Given the description of an element on the screen output the (x, y) to click on. 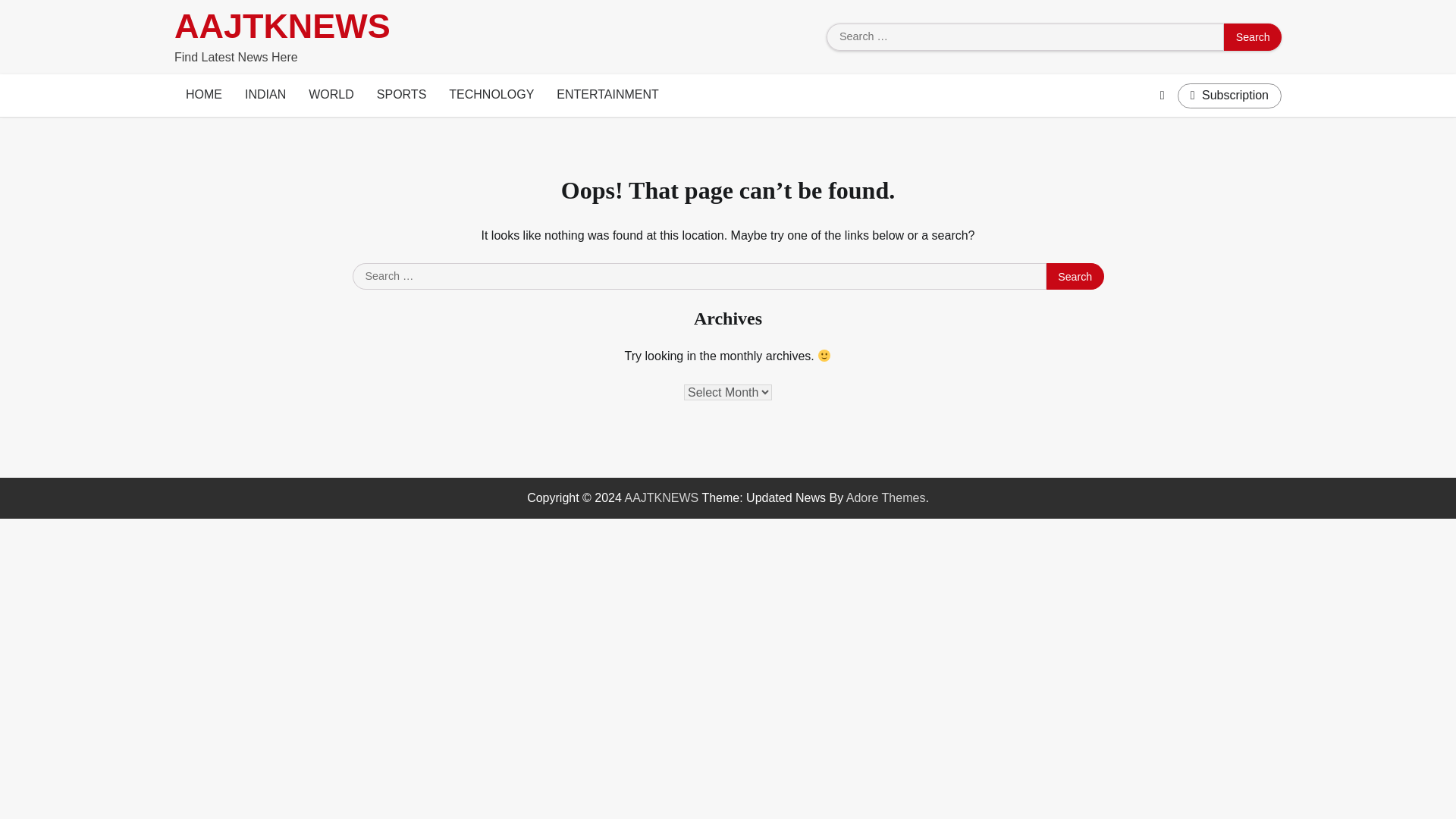
View Random Post (1162, 95)
Search (1074, 276)
Adore Themes (885, 497)
HOME (203, 95)
ENTERTAINMENT (606, 95)
SPORTS (401, 95)
AAJTKNEWS (661, 497)
AAJTKNEWS (282, 25)
Search (1252, 36)
Subscription (1229, 95)
